Given the description of an element on the screen output the (x, y) to click on. 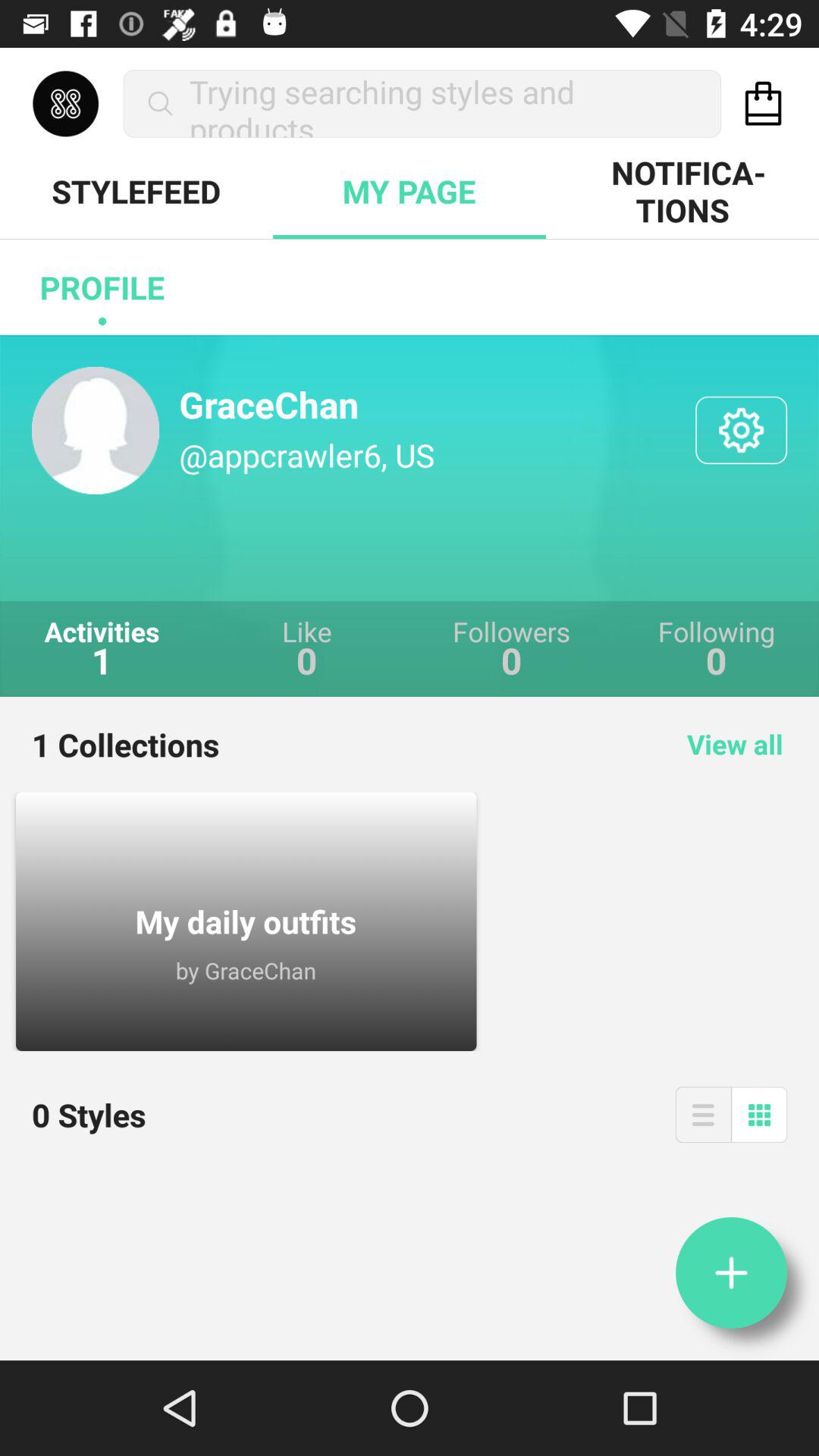
press the view all (735, 743)
